Given the description of an element on the screen output the (x, y) to click on. 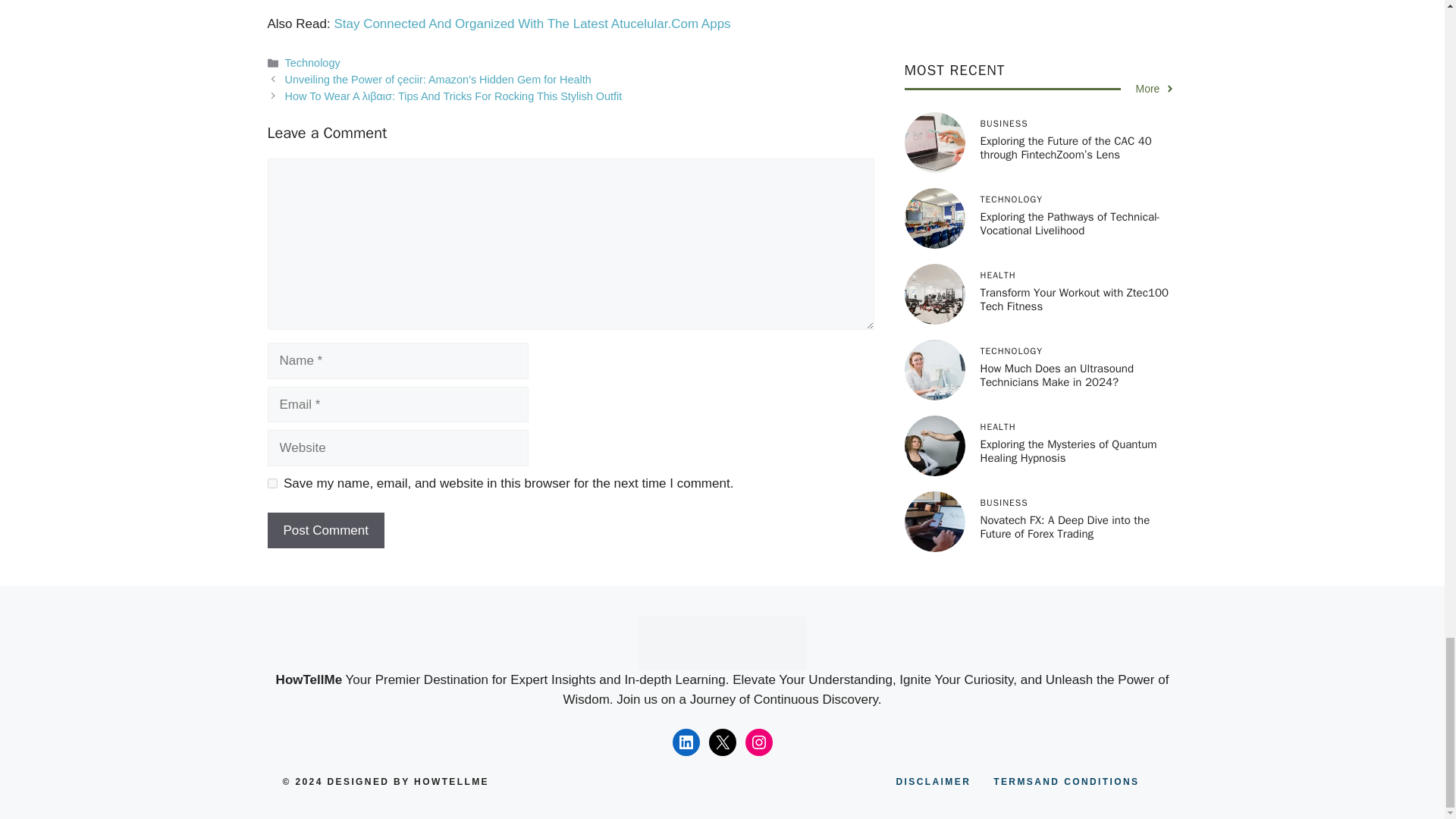
Post Comment (325, 530)
Technology (312, 62)
Post Comment (325, 530)
X (721, 741)
LinkedIn (684, 741)
yes (271, 483)
